Given the description of an element on the screen output the (x, y) to click on. 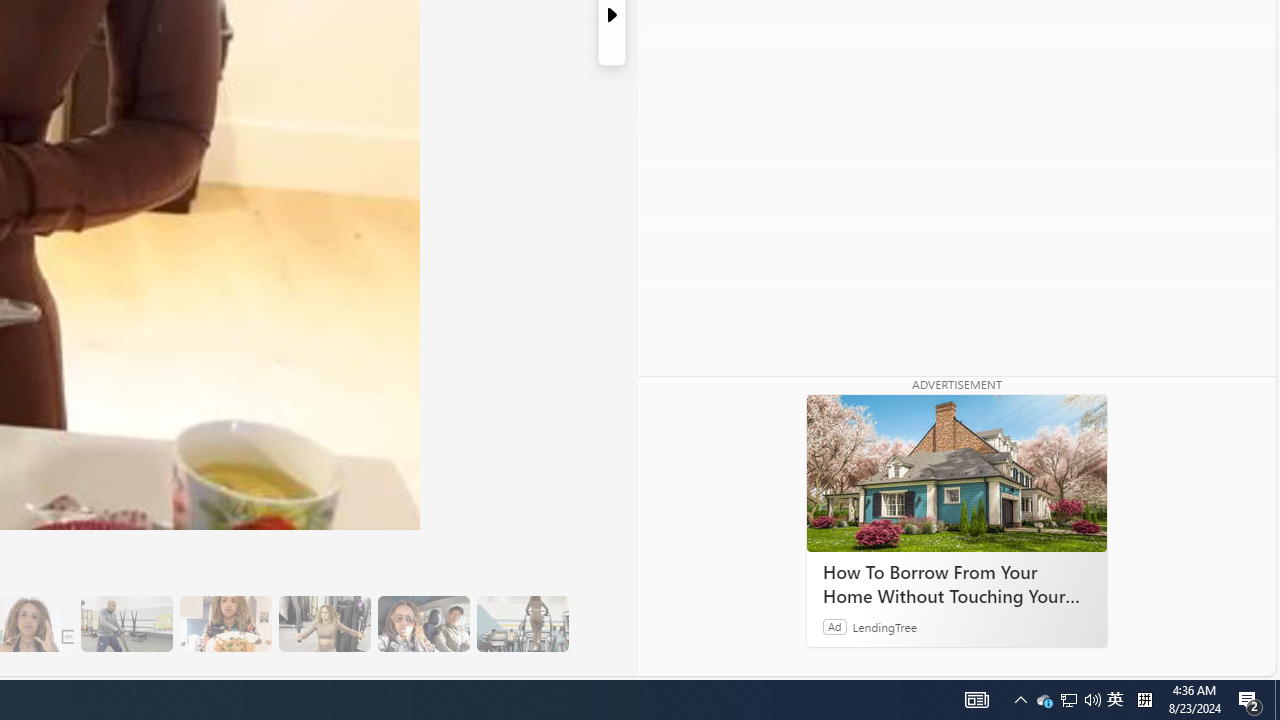
See more (741, 660)
15 They Also Indulge in a Low-Calorie Sweet Treat (324, 624)
